Given the description of an element on the screen output the (x, y) to click on. 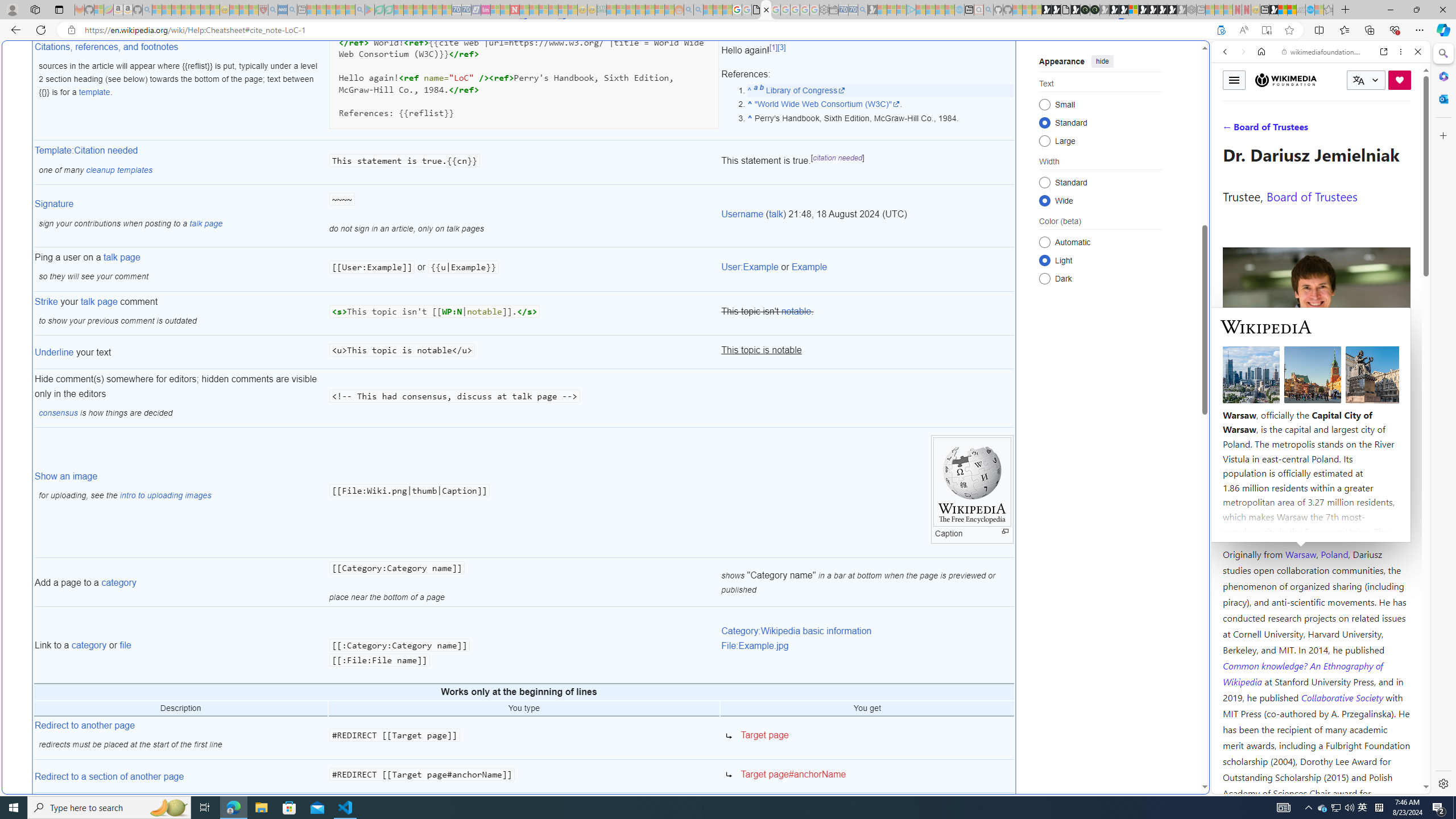
Wide (1044, 200)
Collaborative Society  (1343, 697)
Example (808, 267)
